Given the description of an element on the screen output the (x, y) to click on. 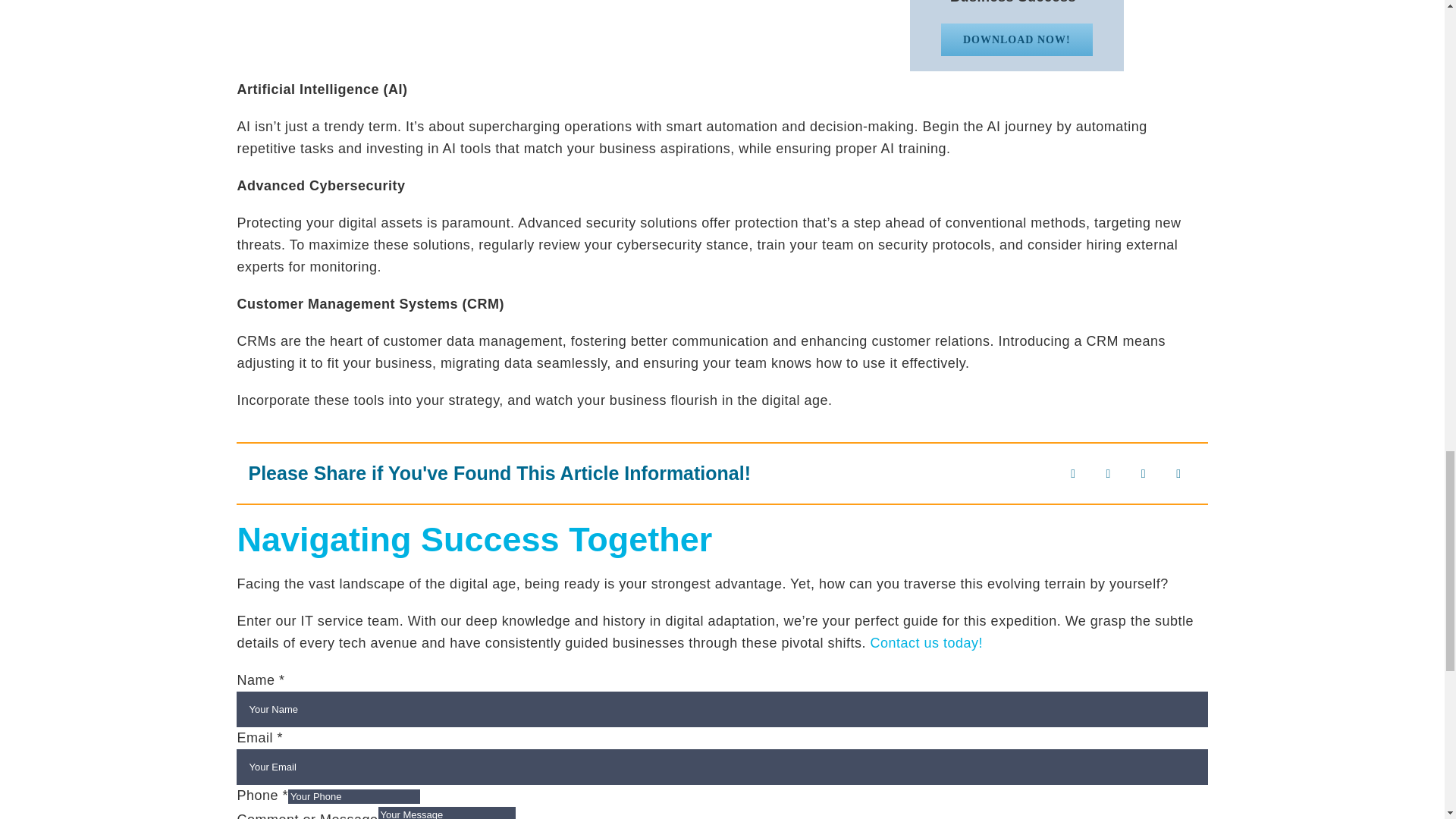
Facebook (1072, 473)
LinkedIn (1143, 473)
Contact us today! (925, 642)
Twitter (1108, 473)
DOWNLOAD NOW! (1016, 39)
Email (1178, 473)
